Given the description of an element on the screen output the (x, y) to click on. 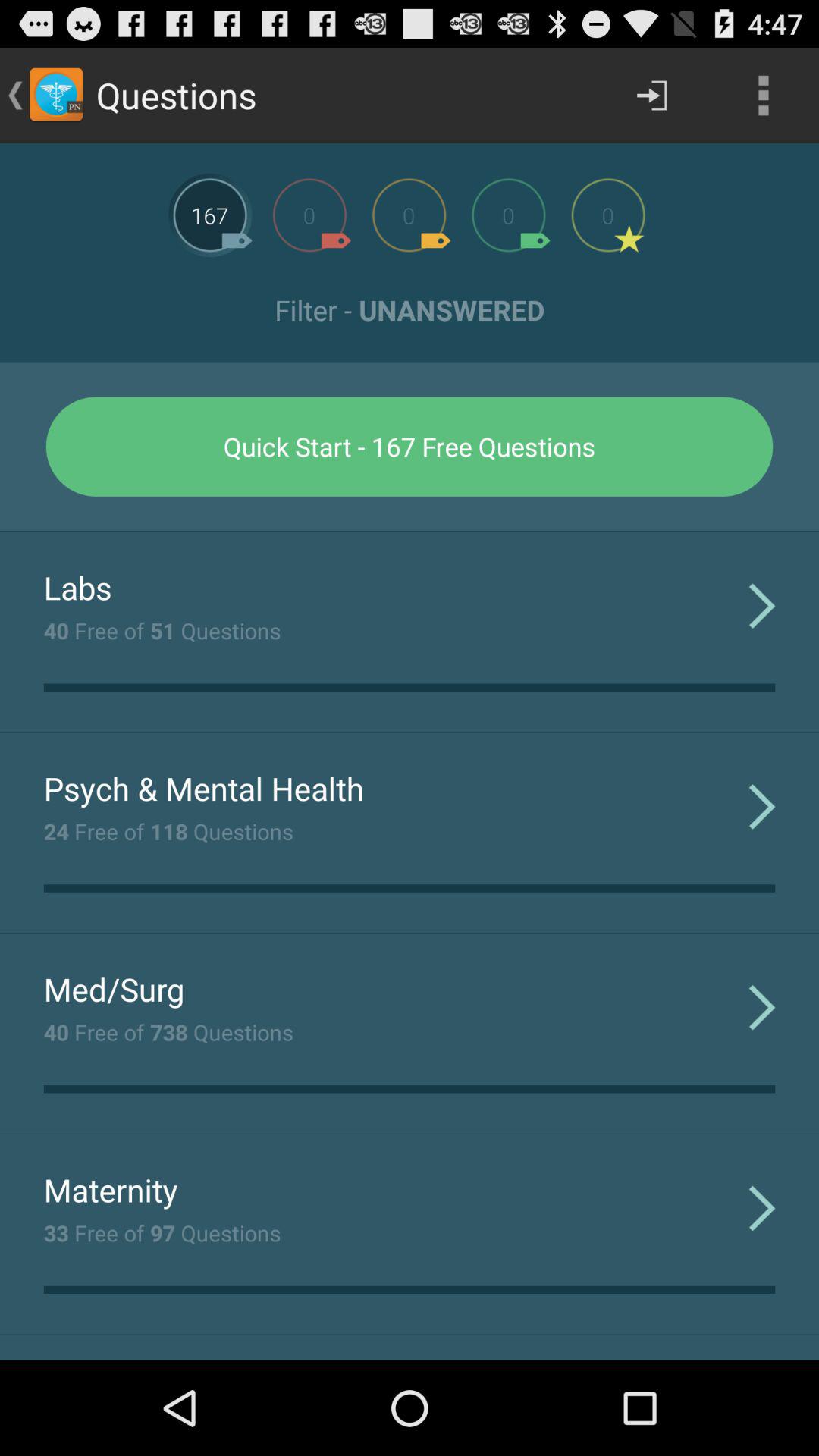
press the app to the right of the 33 free of item (762, 1207)
